Given the description of an element on the screen output the (x, y) to click on. 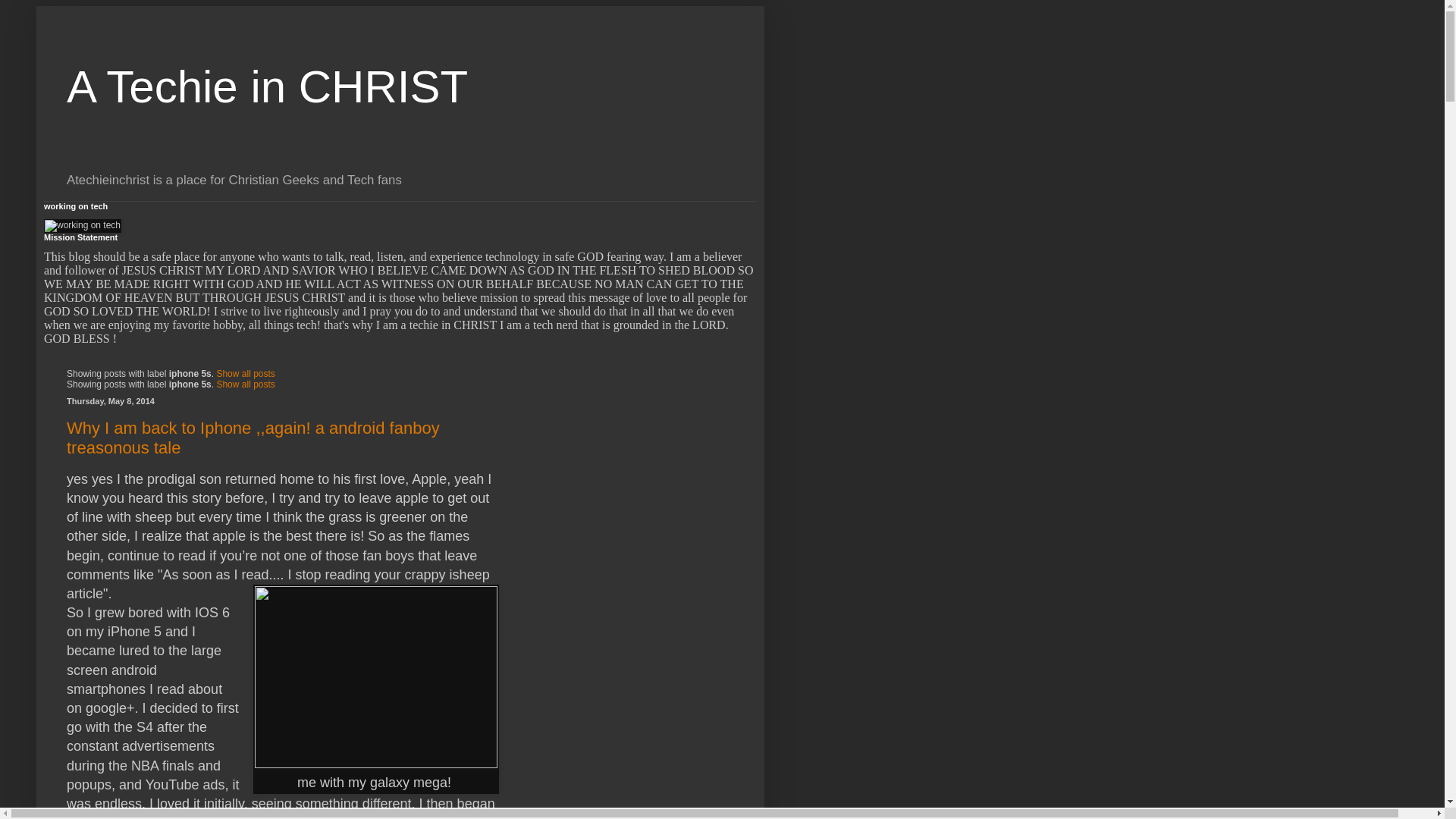
A Techie in CHRIST (266, 86)
Show all posts (245, 373)
Show all posts (245, 384)
